Given the description of an element on the screen output the (x, y) to click on. 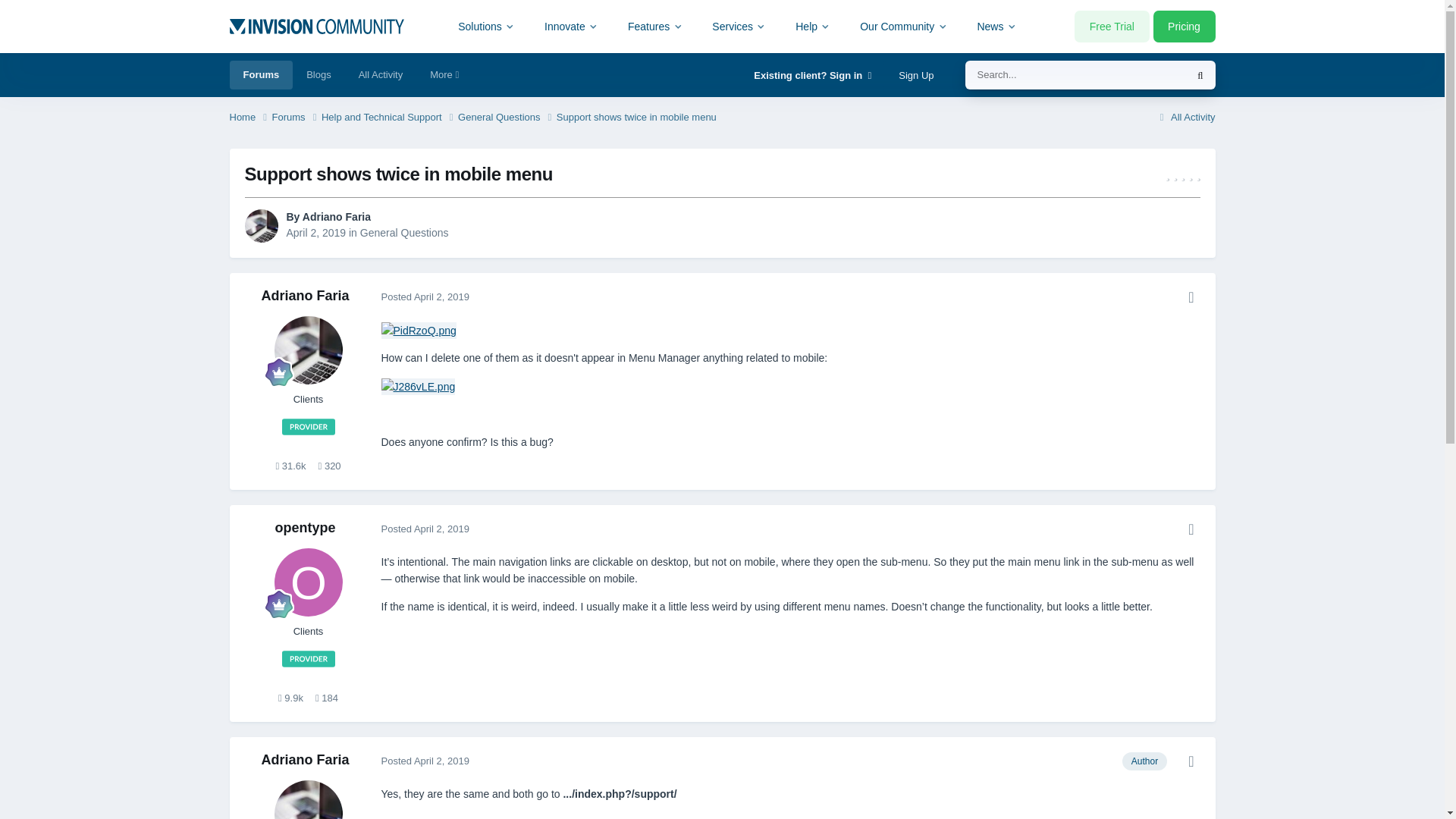
Services (738, 26)
Solutions (486, 26)
Home (249, 117)
Help (812, 26)
Innovate (570, 26)
Features (654, 26)
